Given the description of an element on the screen output the (x, y) to click on. 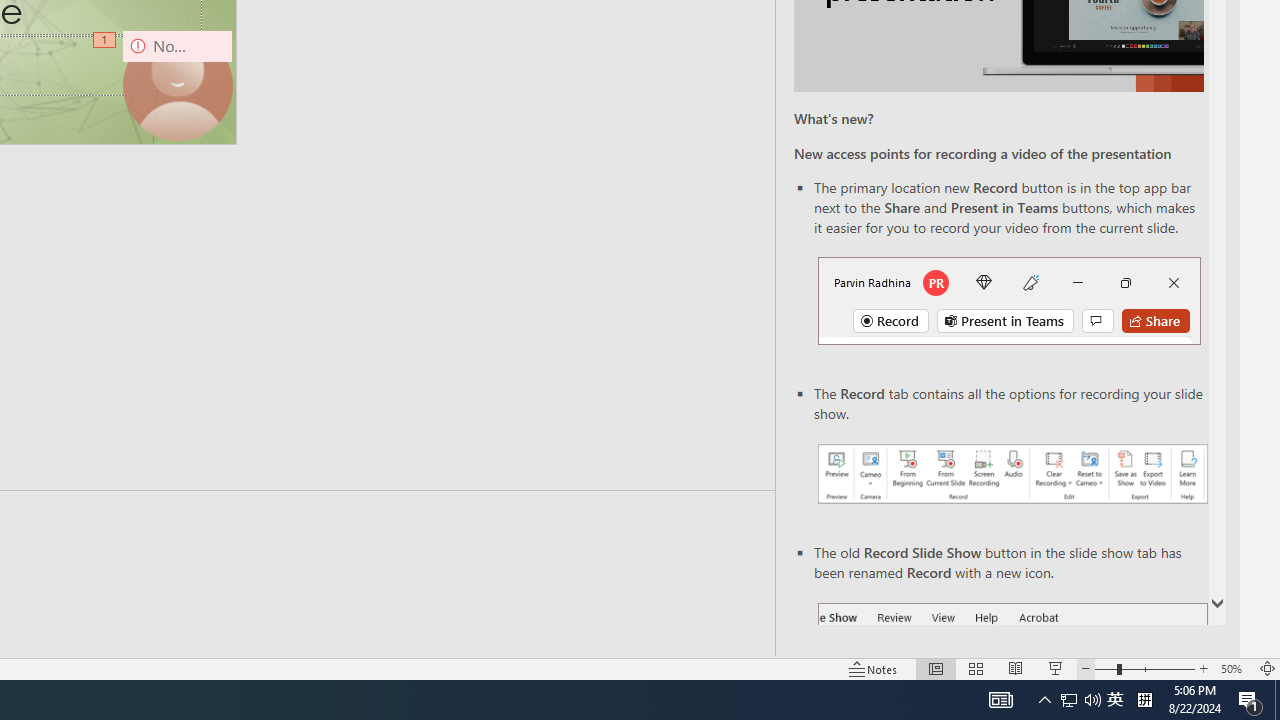
Animation, sequence 1, on Camera 9 (106, 41)
Camera 9, No camera detected. (177, 84)
Record your presentations screenshot one (1012, 473)
Record button in top bar (1008, 300)
